Given the description of an element on the screen output the (x, y) to click on. 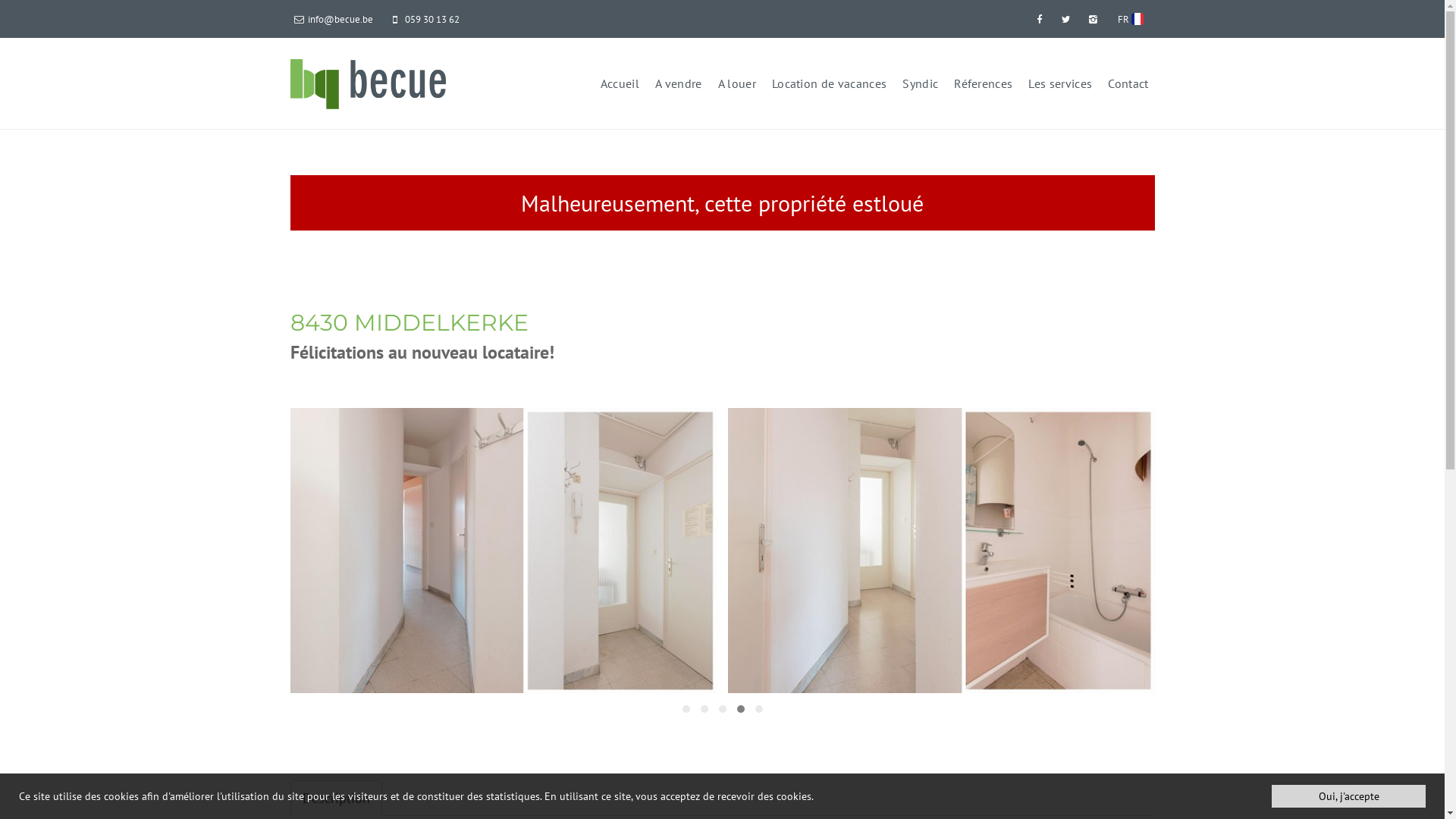
Location de vacances Element type: text (828, 82)
Contact Element type: text (1127, 82)
info@becue.be Element type: text (334, 18)
Facebook Element type: hover (1040, 18)
A vendre Element type: text (678, 82)
FR Element type: text (1129, 18)
Les services Element type: text (1060, 82)
Instagram Element type: hover (1094, 18)
A louer Element type: text (737, 82)
Syndic Element type: text (920, 82)
AGENTSCHAP BECUE Element type: hover (367, 82)
059 30 13 62 Element type: text (424, 18)
Twitter Element type: hover (1066, 18)
Description Element type: text (335, 797)
Accueil Element type: text (619, 82)
